Given the description of an element on the screen output the (x, y) to click on. 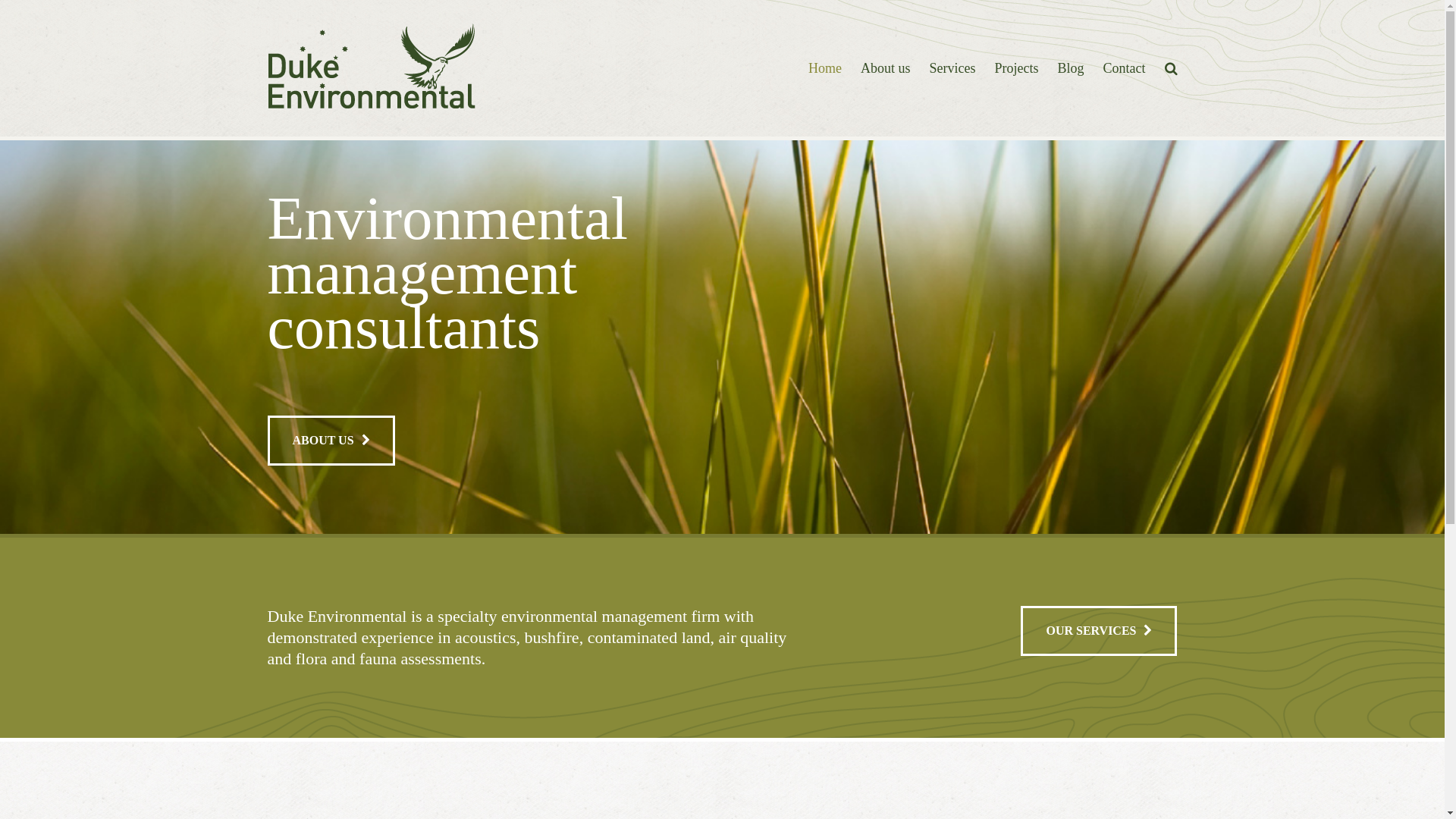
Projects Element type: text (1016, 68)
Home Element type: text (824, 68)
ABOUT US Element type: text (330, 440)
About us Element type: text (885, 68)
Blog Element type: text (1070, 68)
Contact Element type: text (1123, 68)
Services Element type: text (952, 68)
OUR SERVICES Element type: text (1098, 630)
